Given the description of an element on the screen output the (x, y) to click on. 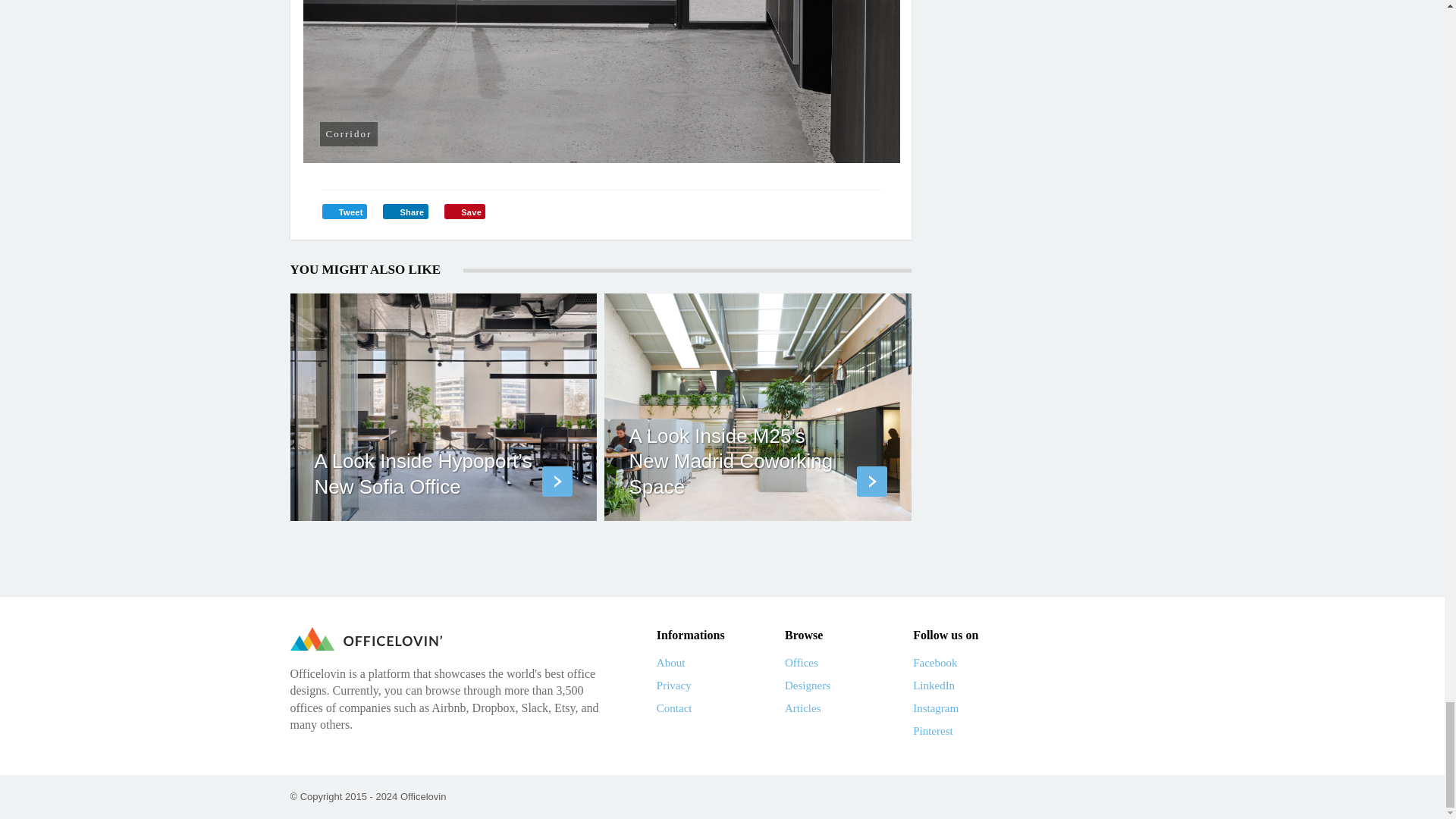
Corridor (601, 81)
Share link on Twitter (343, 211)
Share link on LinkedIn (405, 211)
